Given the description of an element on the screen output the (x, y) to click on. 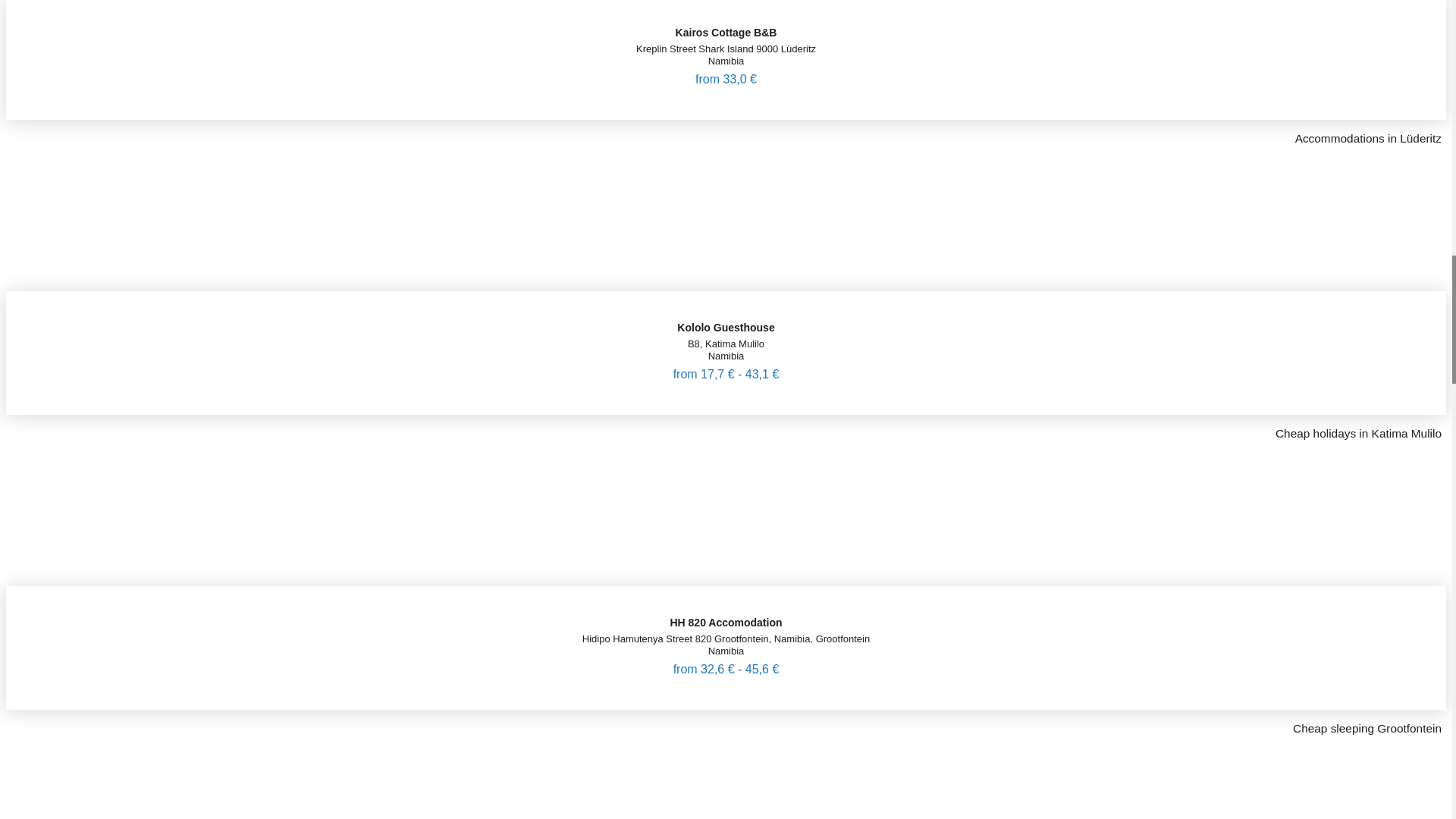
Kololo Guesthouse (725, 312)
HH 820 Accomodation (724, 607)
